Given the description of an element on the screen output the (x, y) to click on. 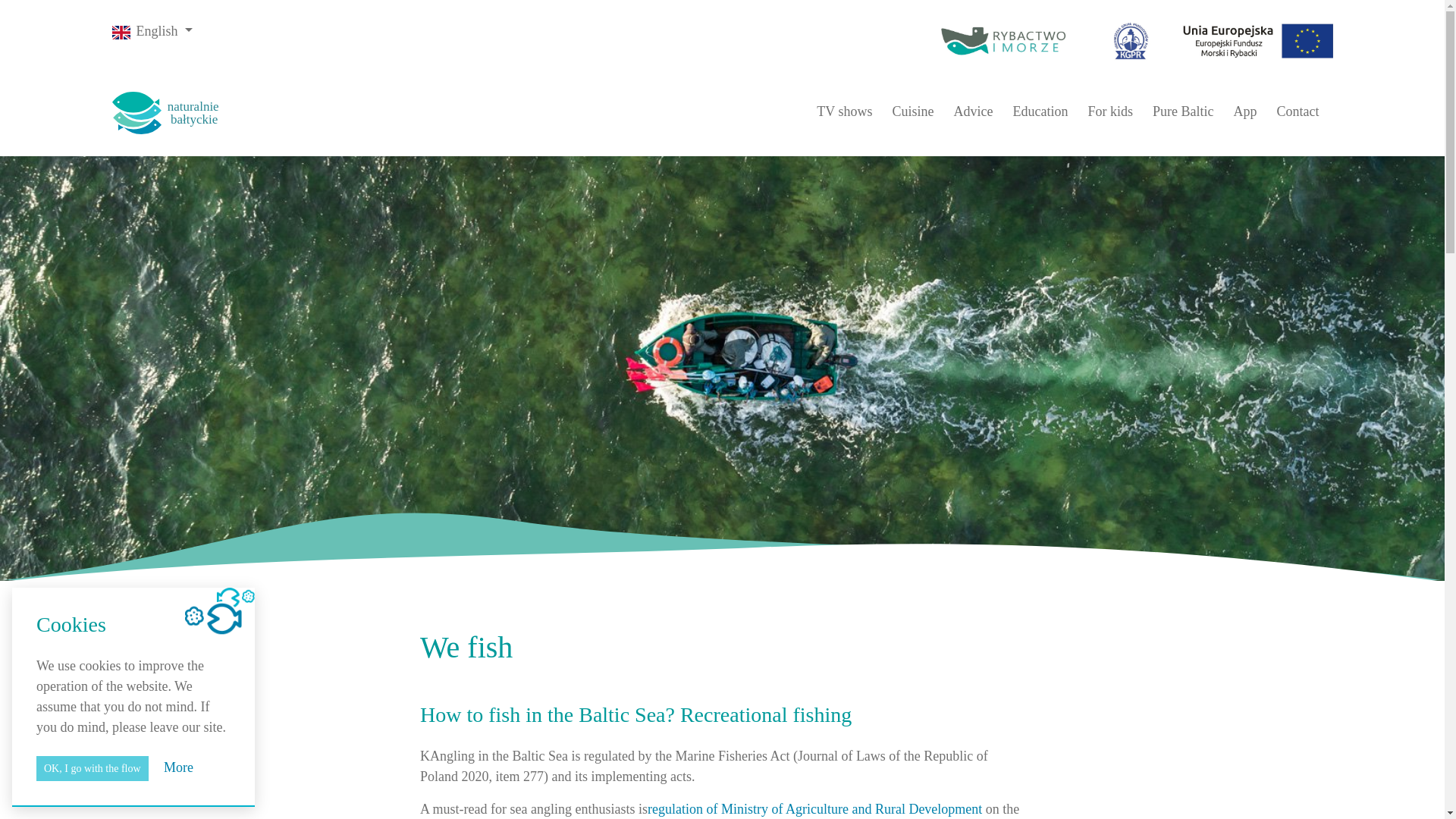
English (152, 30)
For kids (1109, 111)
Advice (972, 111)
Education (1040, 111)
OK, I go with the flow (92, 768)
App (1244, 111)
TV shows (843, 111)
regulation of Ministry of Agriculture and Rural Development (816, 808)
More (178, 767)
Contact (1297, 111)
